Given the description of an element on the screen output the (x, y) to click on. 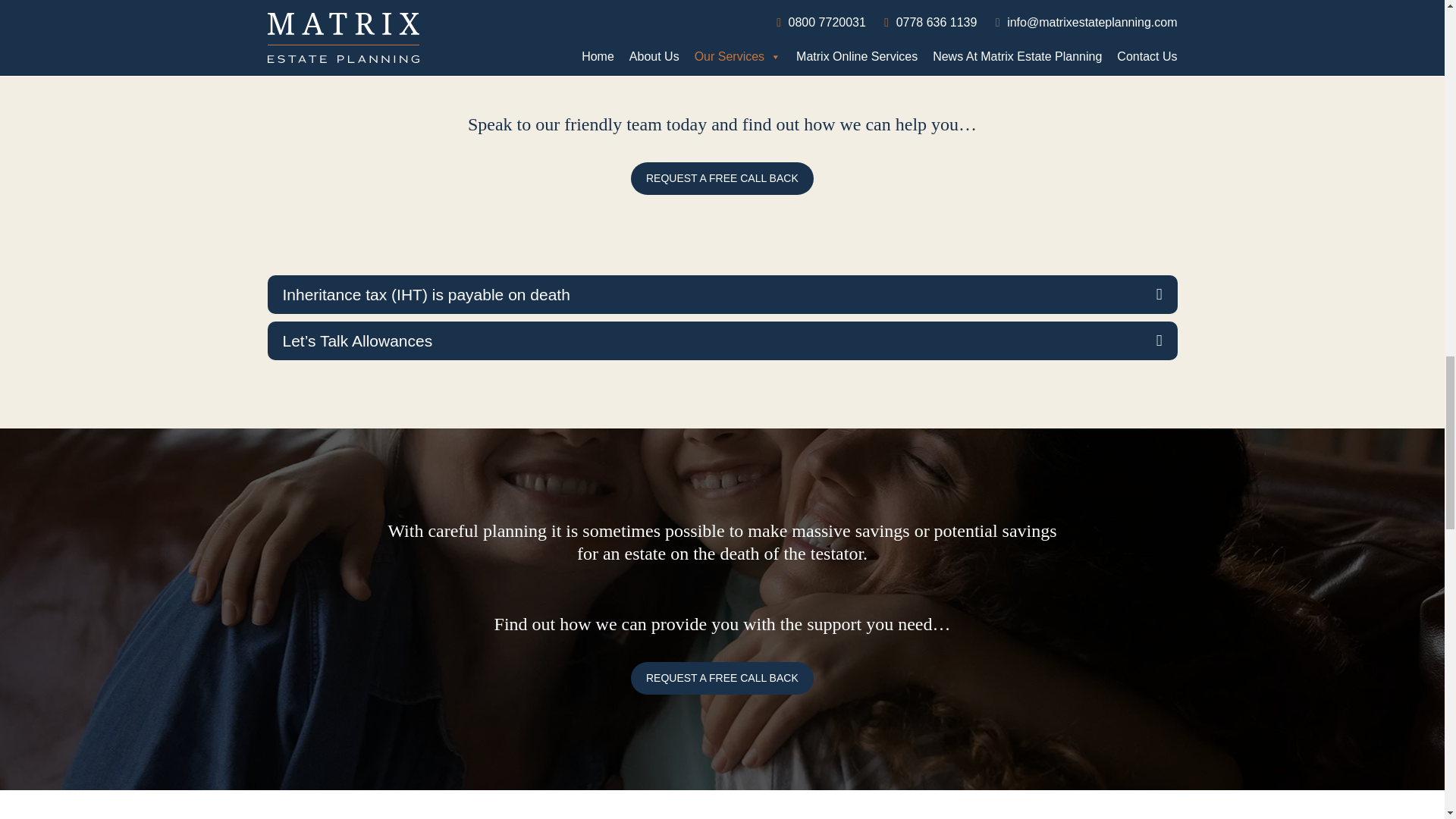
REQUEST A FREE CALL BACK (721, 178)
REQUEST A FREE CALL BACK (721, 677)
